Given the description of an element on the screen output the (x, y) to click on. 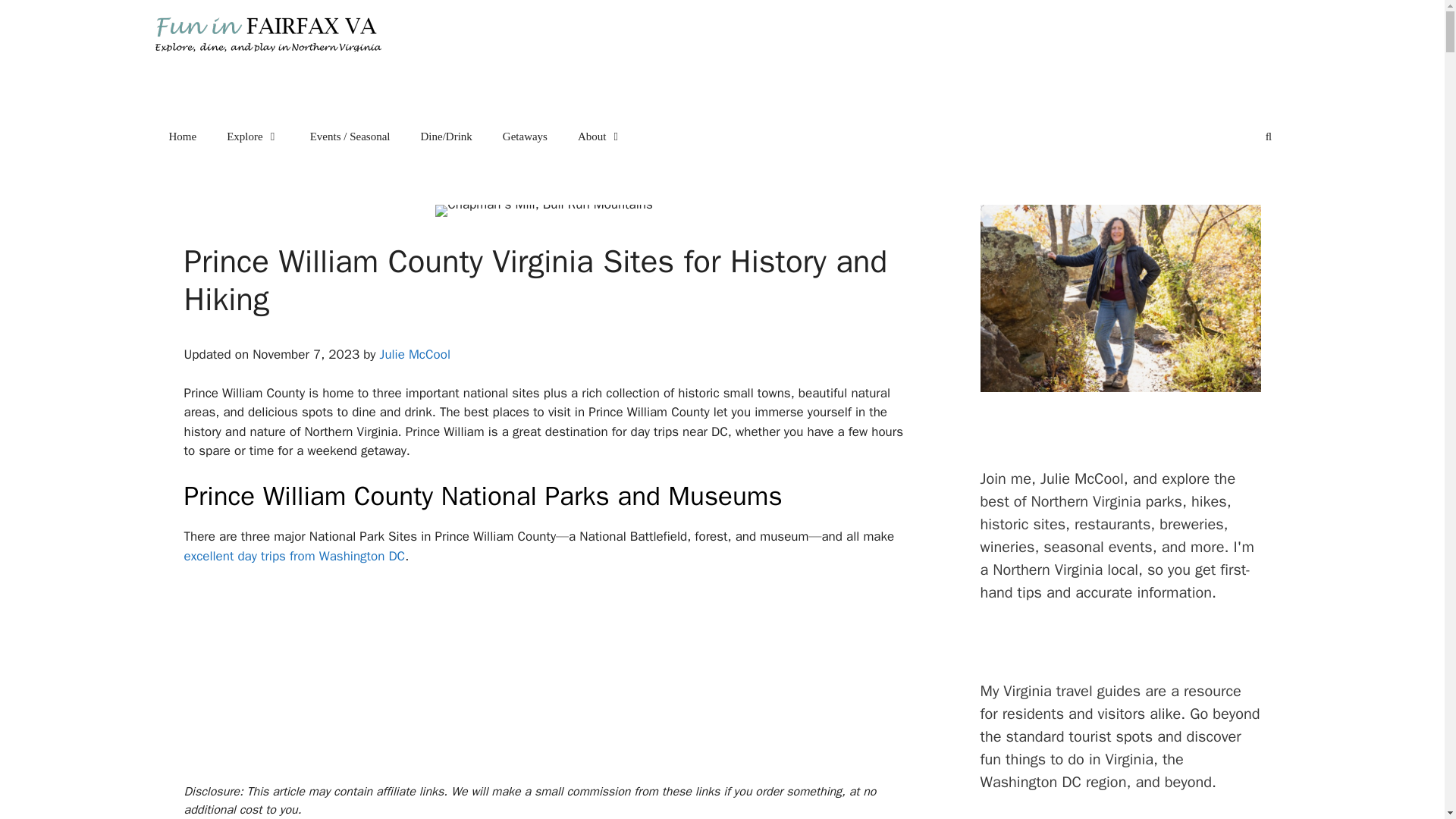
Julie McCool (414, 354)
Getaways (524, 135)
excellent day trips from Washington DC (293, 555)
About (600, 135)
Home (181, 135)
Explore (252, 135)
